Given the description of an element on the screen output the (x, y) to click on. 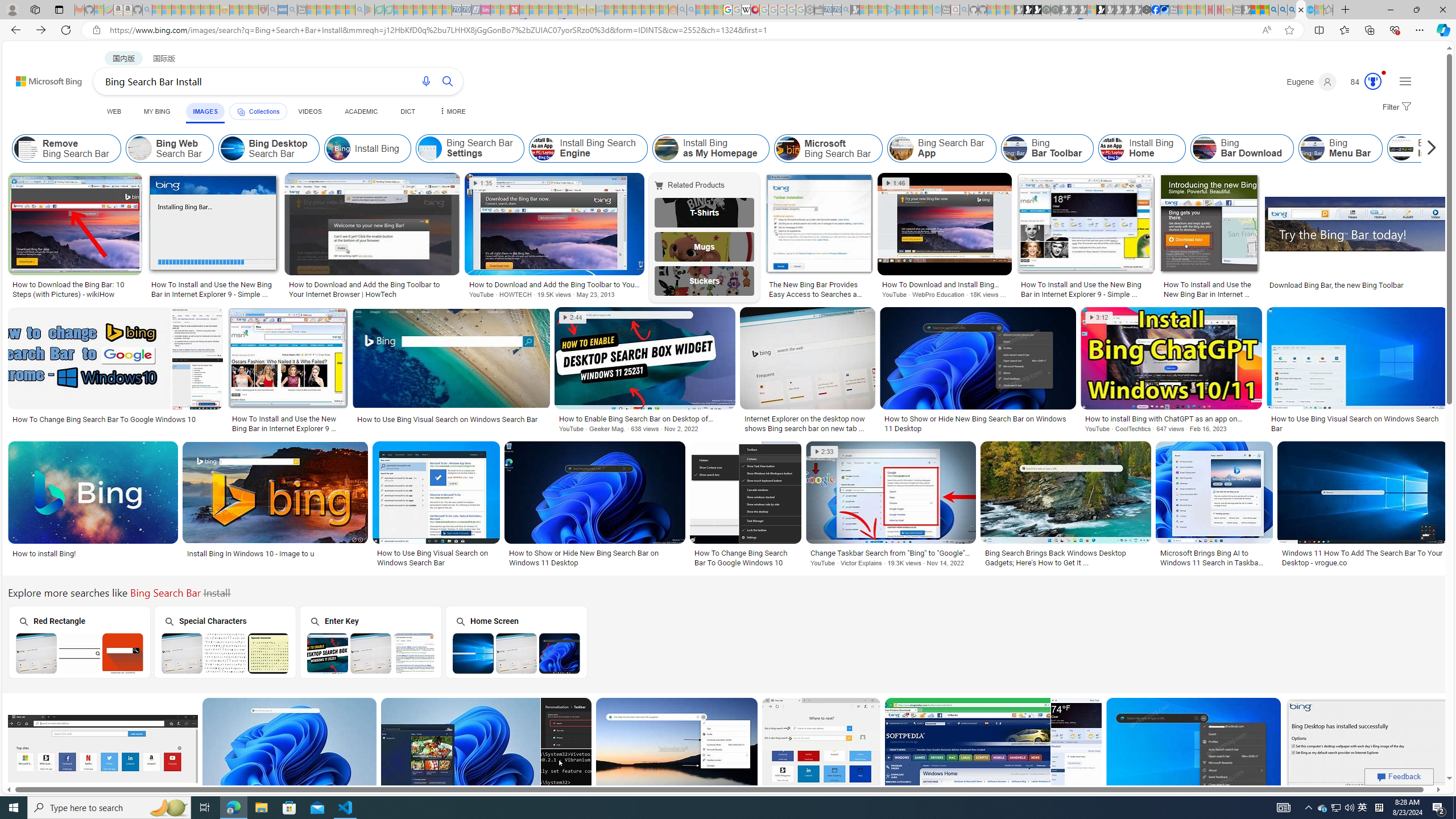
Install Bing Search Engine (543, 148)
AirNow.gov (1163, 9)
Install Bing as My Homepage (665, 148)
Download Bing Bar, the new Bing Toolbar (1336, 284)
Install Bing (338, 148)
